Given the description of an element on the screen output the (x, y) to click on. 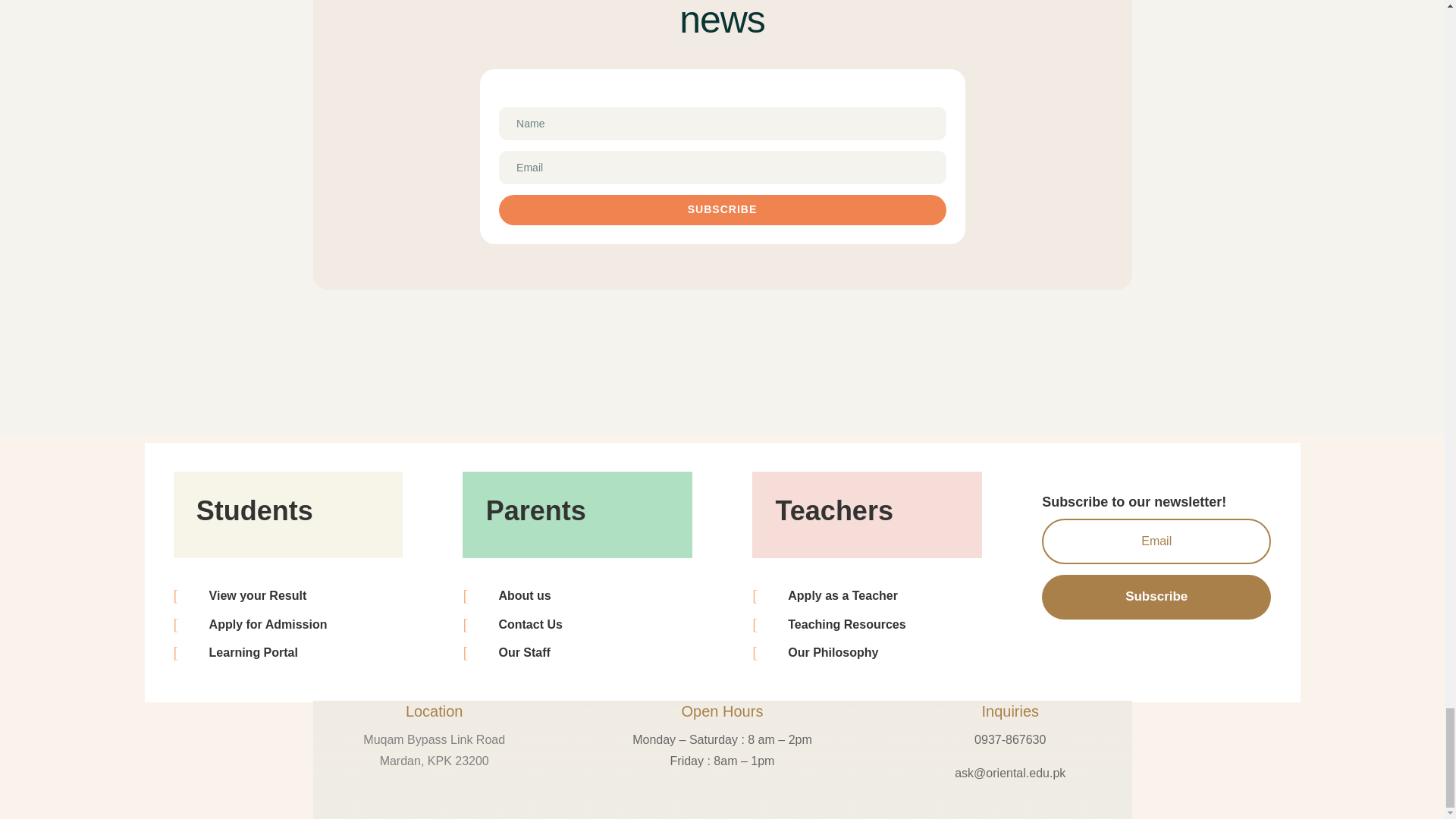
NGO-img-02 (1016, 34)
Apply for Admission (268, 624)
SUBSCRIBE (722, 209)
View your Result (258, 594)
Learning Portal (253, 652)
